Given the description of an element on the screen output the (x, y) to click on. 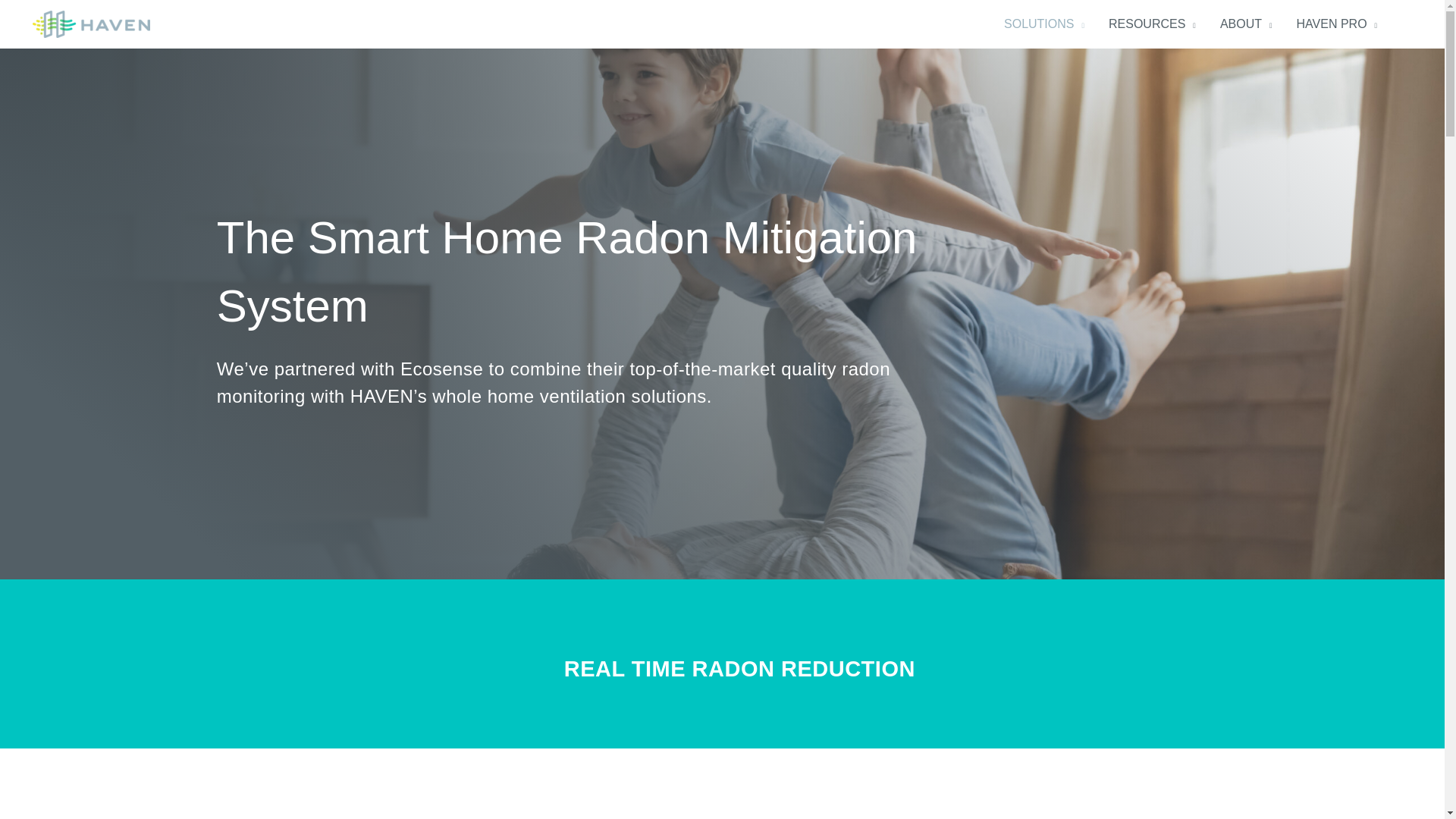
HAVEN PRO (1337, 24)
ABOUT (1246, 24)
RESOURCES (1152, 24)
SOLUTIONS (1043, 24)
